Given the description of an element on the screen output the (x, y) to click on. 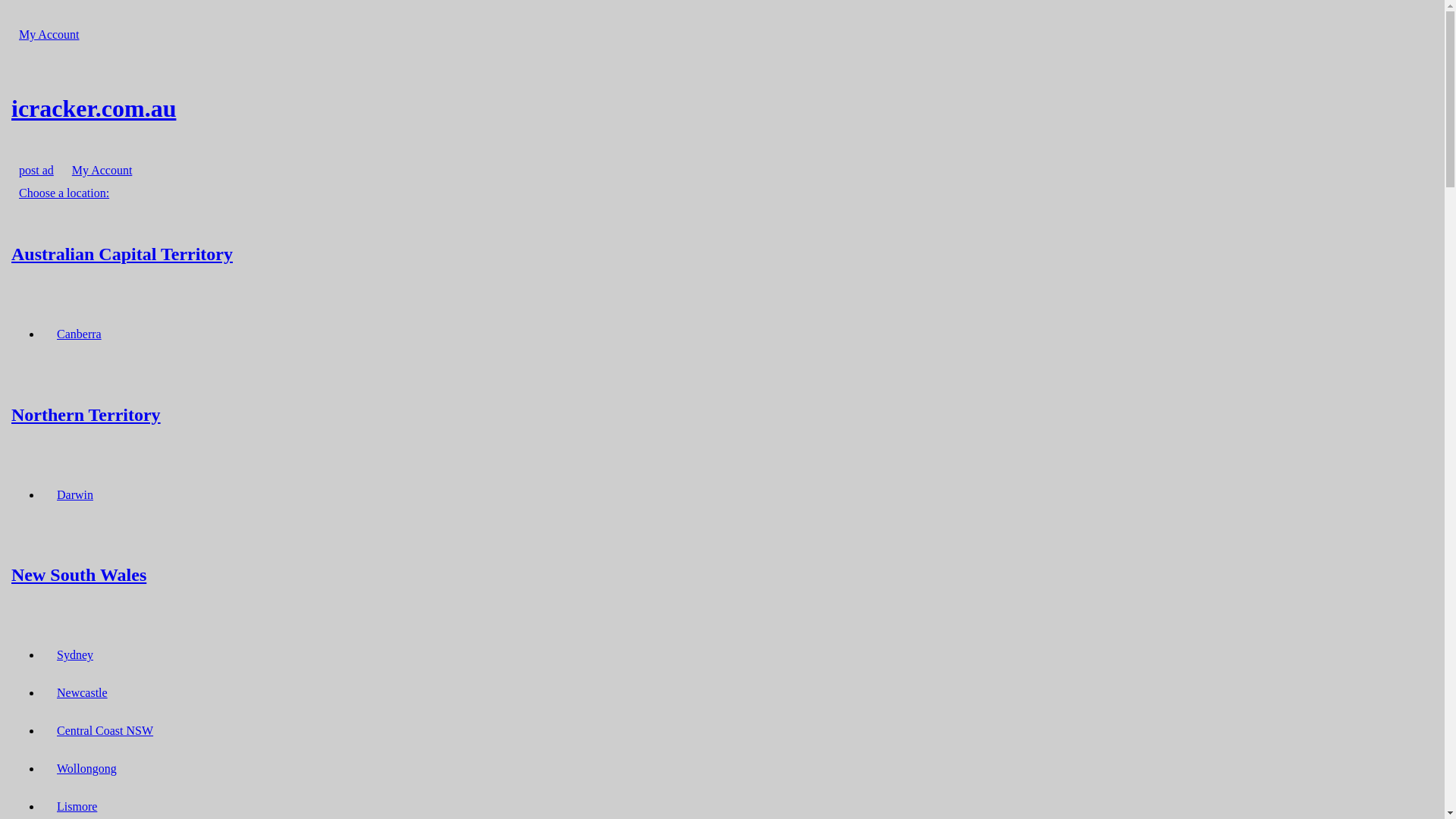
My Account Element type: text (102, 170)
Sydney Element type: text (74, 654)
post ad Element type: text (36, 170)
Wollongong Element type: text (86, 768)
Northern Territory Element type: text (722, 414)
Australian Capital Territory Element type: text (722, 253)
Central Coast NSW Element type: text (104, 730)
icracker.com.au Element type: text (722, 108)
My Account Element type: text (49, 34)
Choose a location: Element type: text (63, 192)
Canberra Element type: text (79, 334)
Darwin Element type: text (74, 494)
Newcastle Element type: text (82, 692)
New South Wales Element type: text (722, 575)
